Given the description of an element on the screen output the (x, y) to click on. 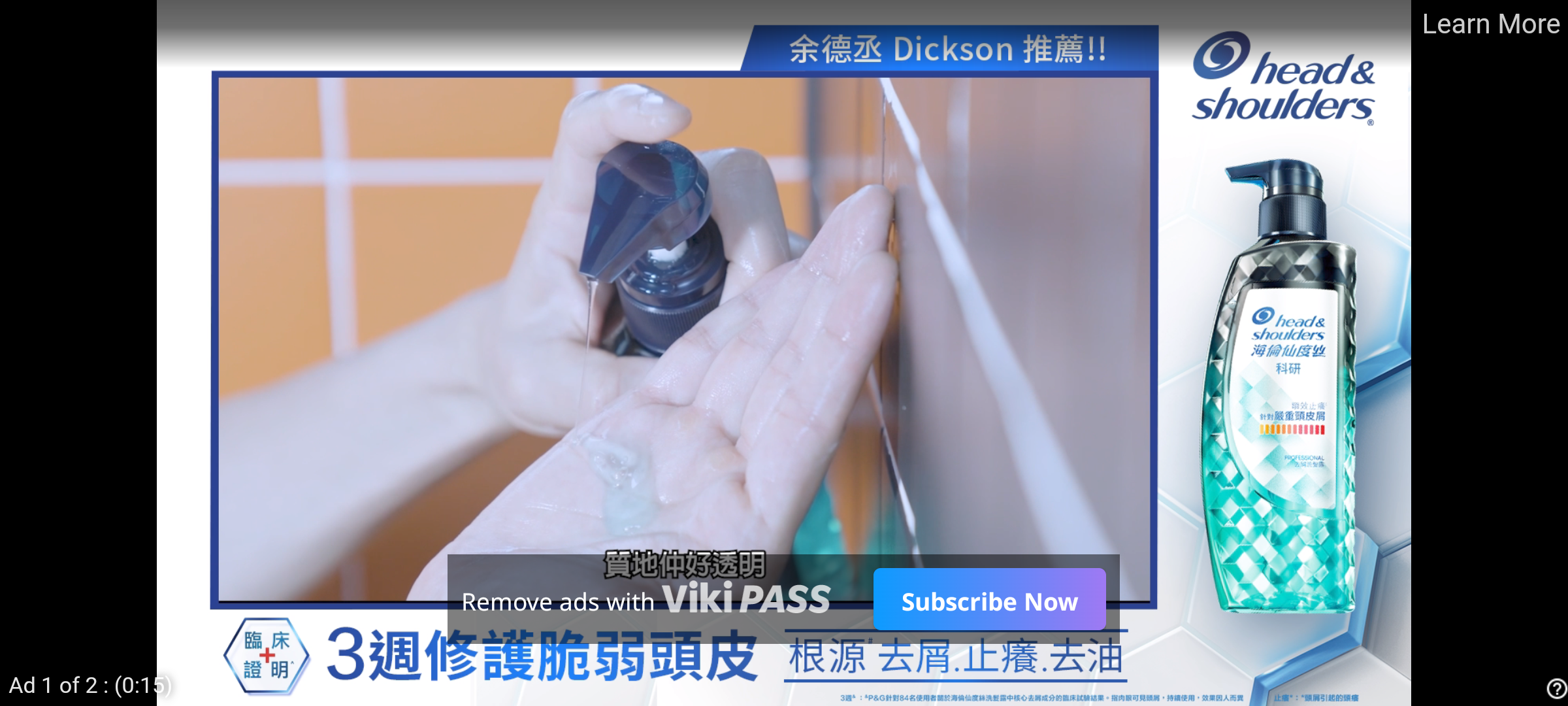
Learn More (1490, 24)
Subscribe Now (989, 599)
Ad 1 of 2 : (0:15) (90, 684)
help_outline_white_24dp_with_3px_trbl_padding (1553, 688)
